Given the description of an element on the screen output the (x, y) to click on. 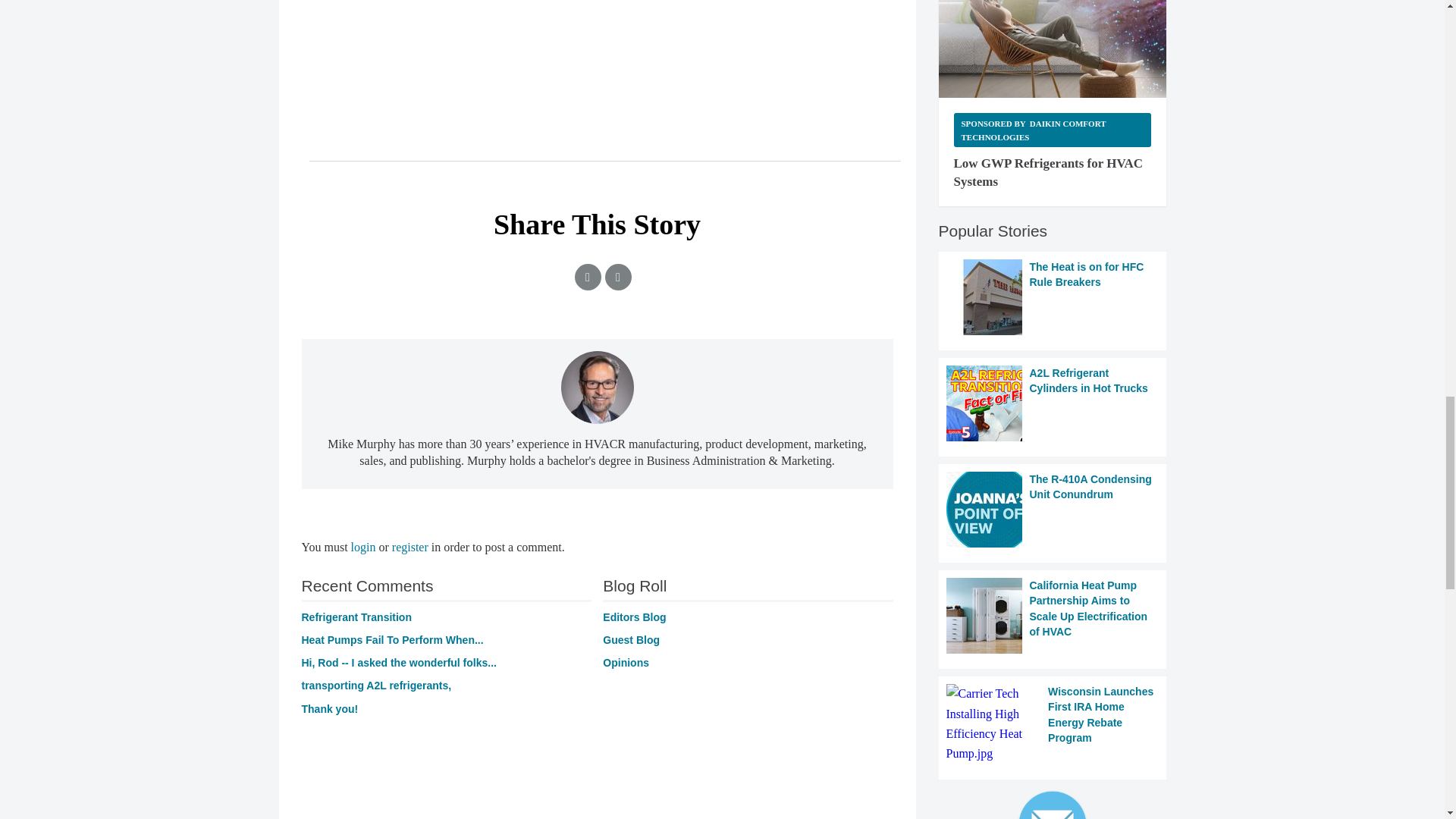
Editors Blog (633, 616)
Opinions (625, 662)
Wisconsin Launches First IRA Home Energy Rebate Program (1052, 723)
A2L Refrigerant Cylinders in Hot Trucks (1052, 403)
Sponsored by Daikin Comfort Technologies (1052, 130)
The Heat is on for HFC Rule Breakers (1052, 296)
Refrigerant Transition Takes a Big Step in 2025 (356, 616)
The R-410A Condensing Unit Conundrum (1052, 509)
Homeowners Views on HVAC Go Public (329, 708)
Daiken Refrigerants (1052, 48)
